Given the description of an element on the screen output the (x, y) to click on. 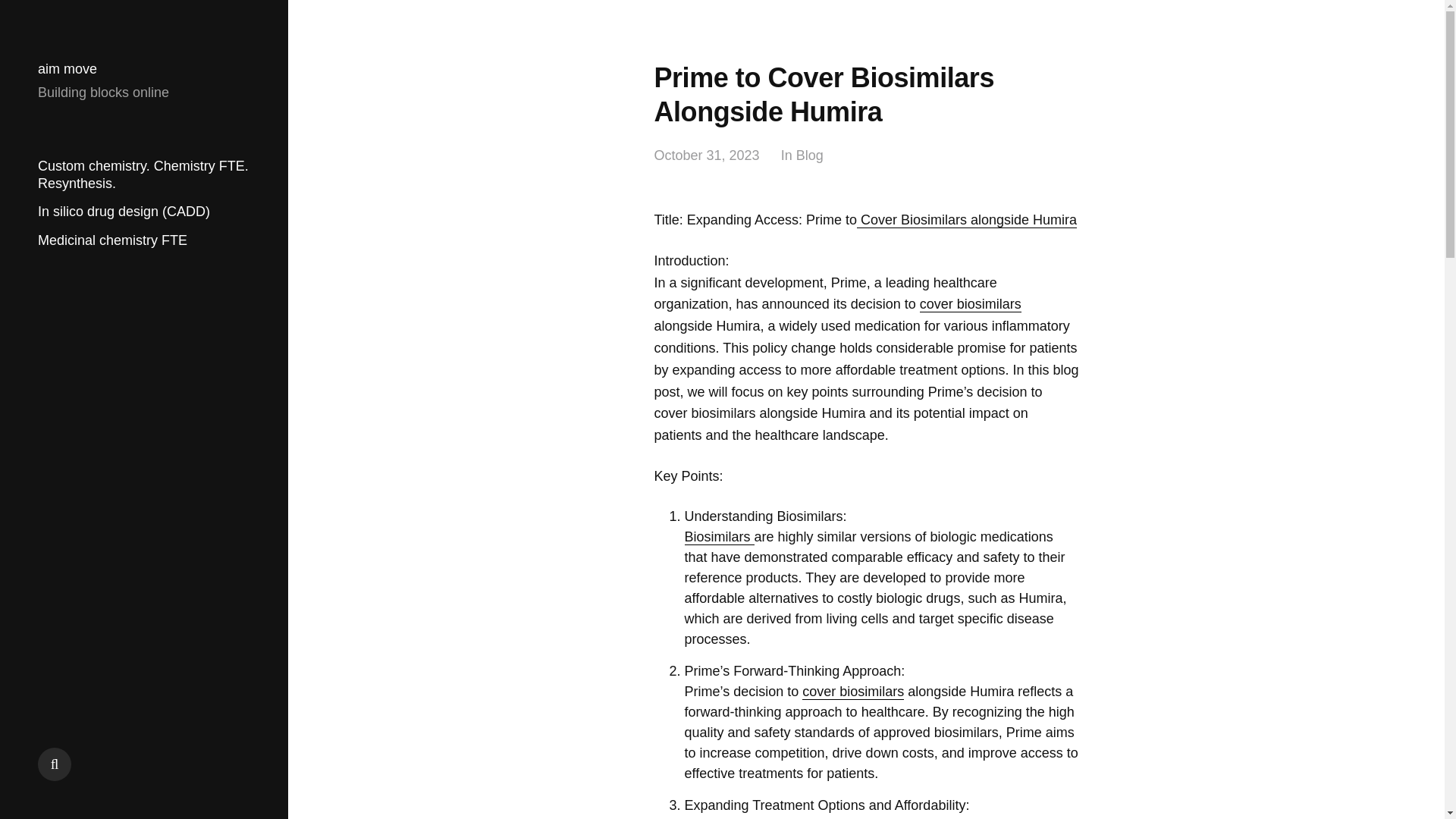
cover biosimilars (853, 691)
Custom chemistry. Chemistry FTE. Resynthesis. (142, 174)
cover biosimilars (971, 304)
October 31, 2023 (705, 155)
Medicinal chemistry FTE (112, 239)
Cover Biosimilars alongside Humira (967, 220)
aim move (67, 68)
Blog (810, 155)
Biosimilars (719, 537)
biosimilars (817, 818)
